Given the description of an element on the screen output the (x, y) to click on. 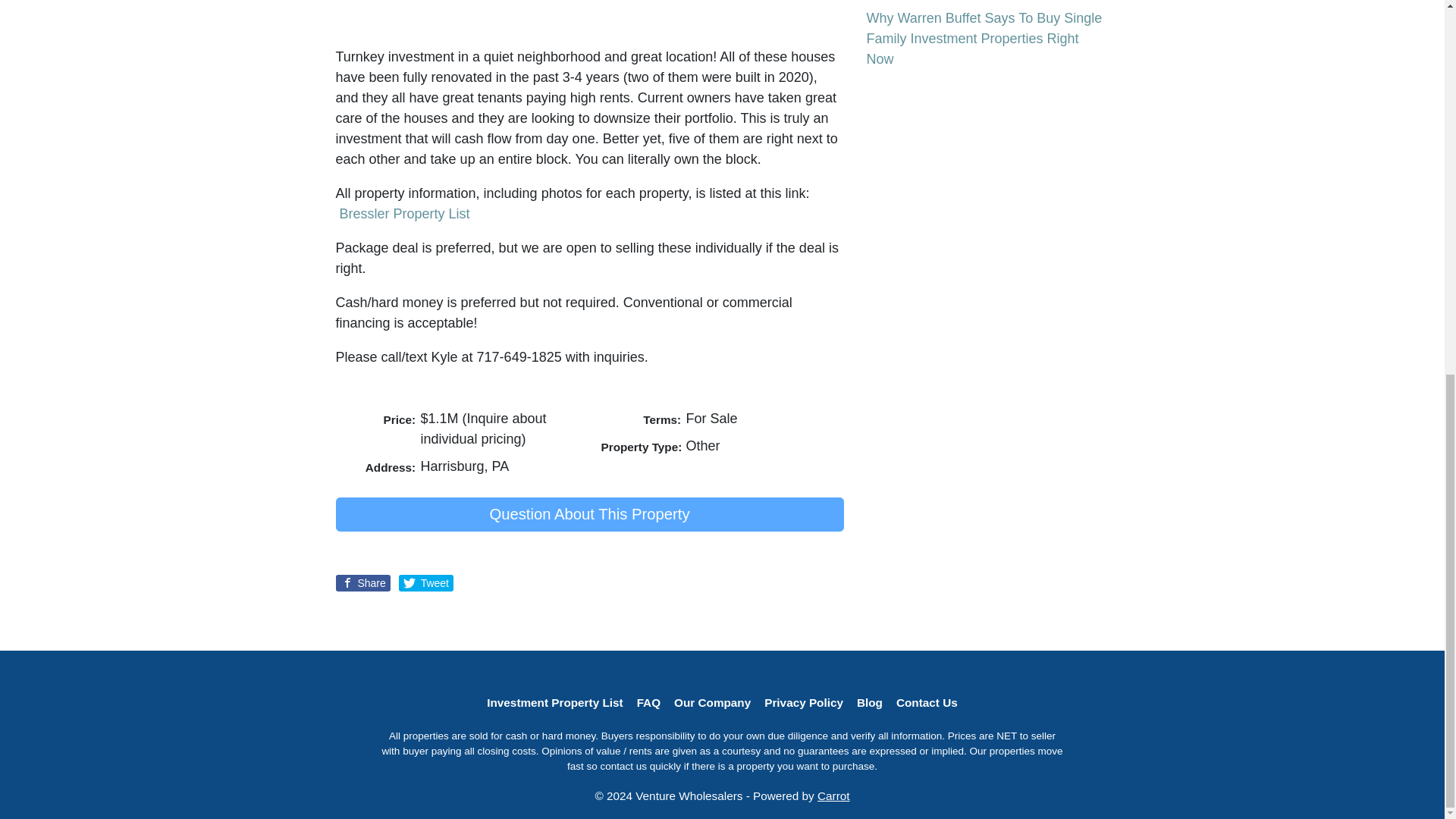
Our Company (711, 702)
Tweet (425, 582)
FAQ (648, 702)
Share on Facebook (362, 582)
Investment Property List (554, 702)
Blog (869, 702)
Contact Us (926, 702)
Share (362, 582)
Carrot (833, 795)
Share on Twitter (425, 582)
Question About This Property (588, 514)
Privacy Policy (803, 702)
Bressler Property List (404, 213)
